Given the description of an element on the screen output the (x, y) to click on. 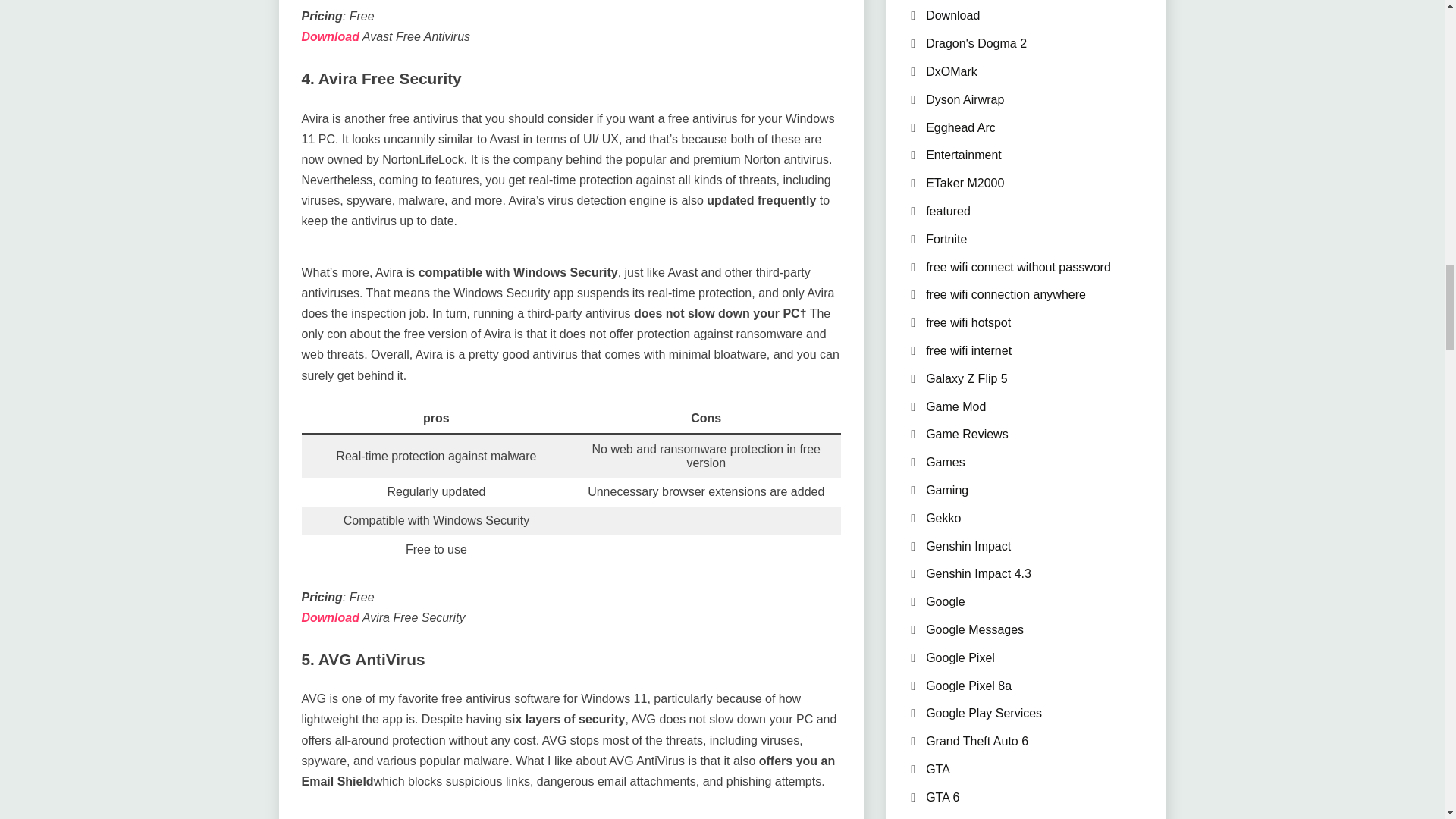
Download (330, 617)
Download (330, 36)
